Given the description of an element on the screen output the (x, y) to click on. 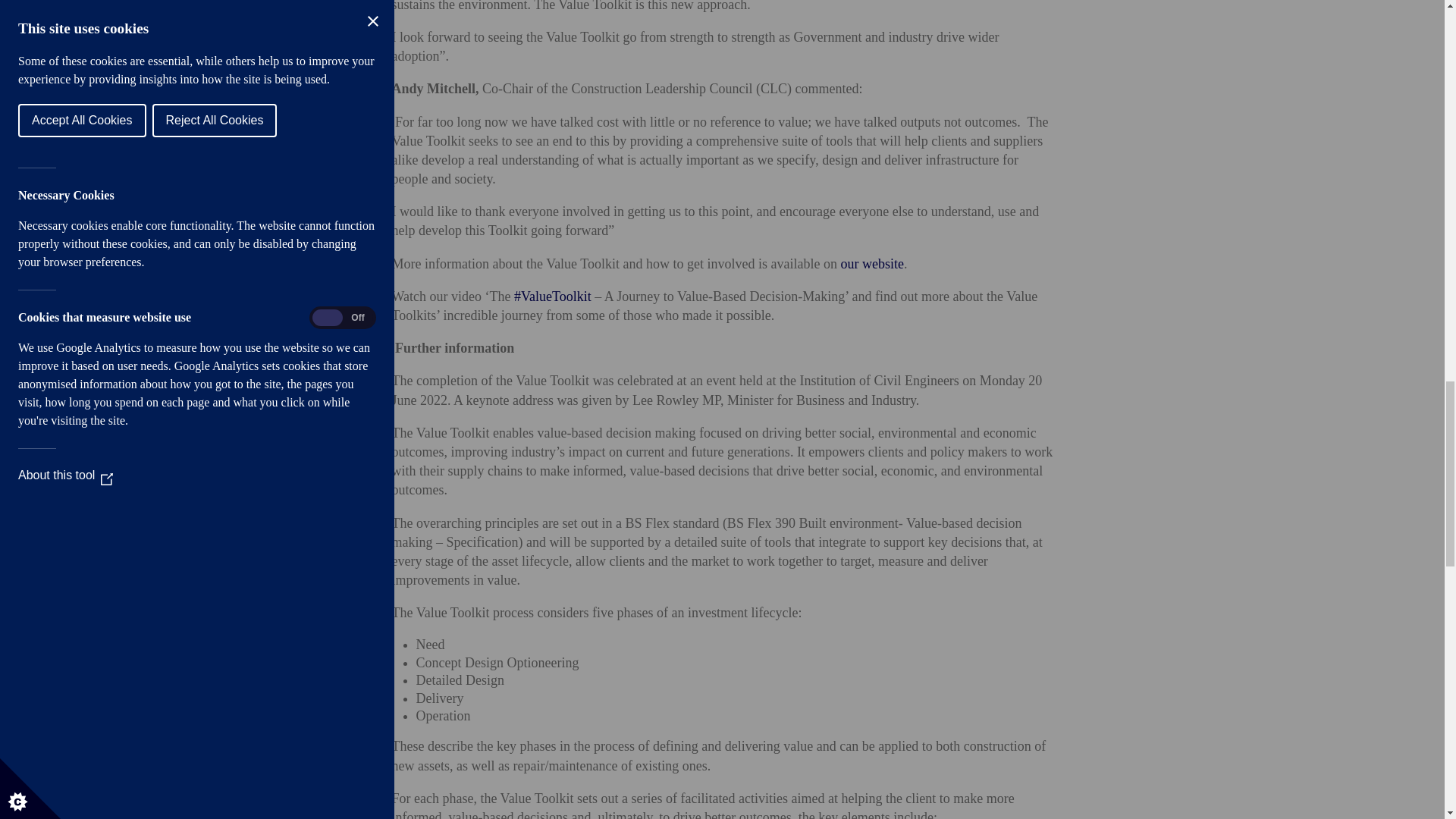
our website (871, 263)
